Given the description of an element on the screen output the (x, y) to click on. 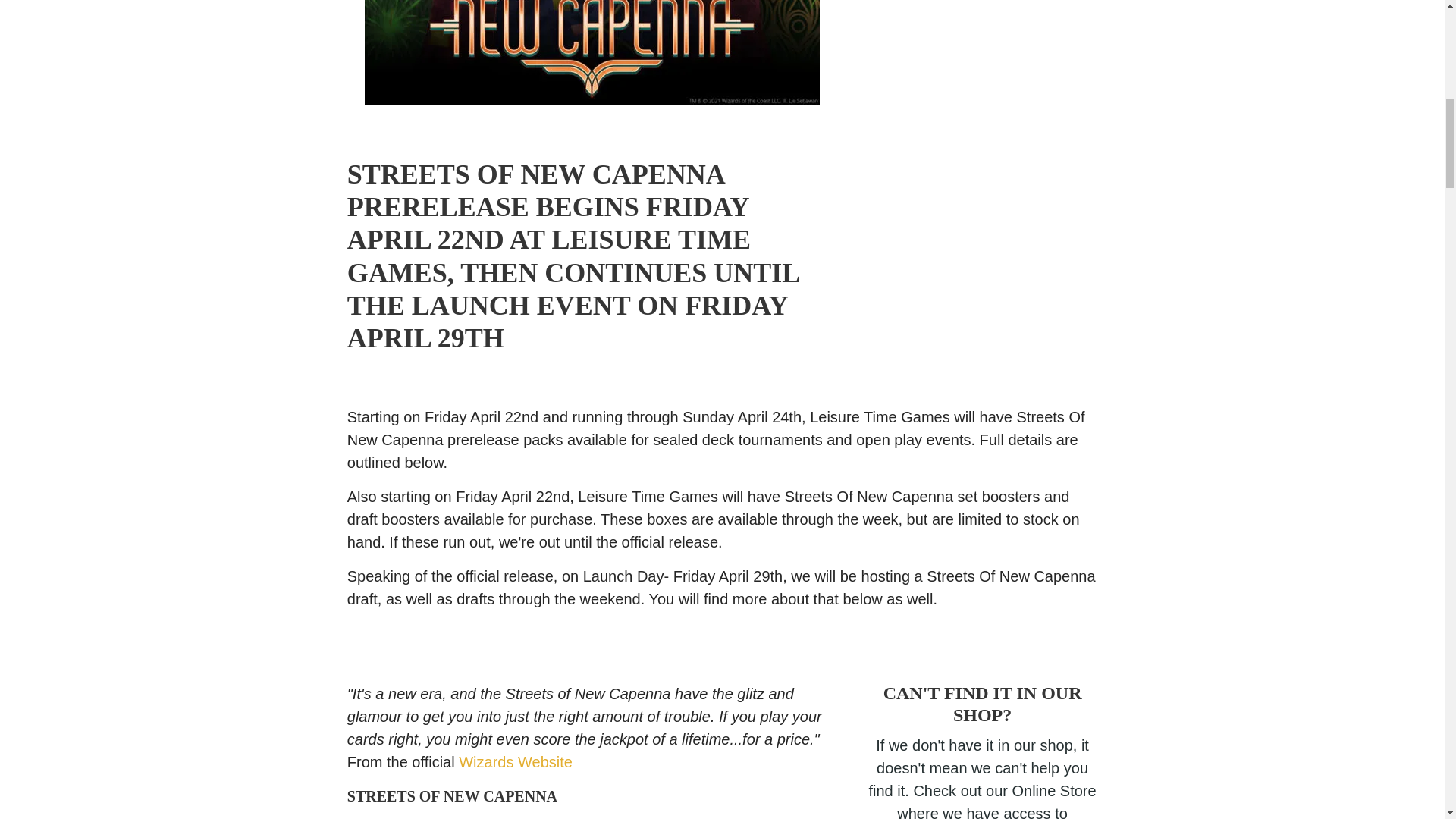
Wizards Website (515, 761)
